Given the description of an element on the screen output the (x, y) to click on. 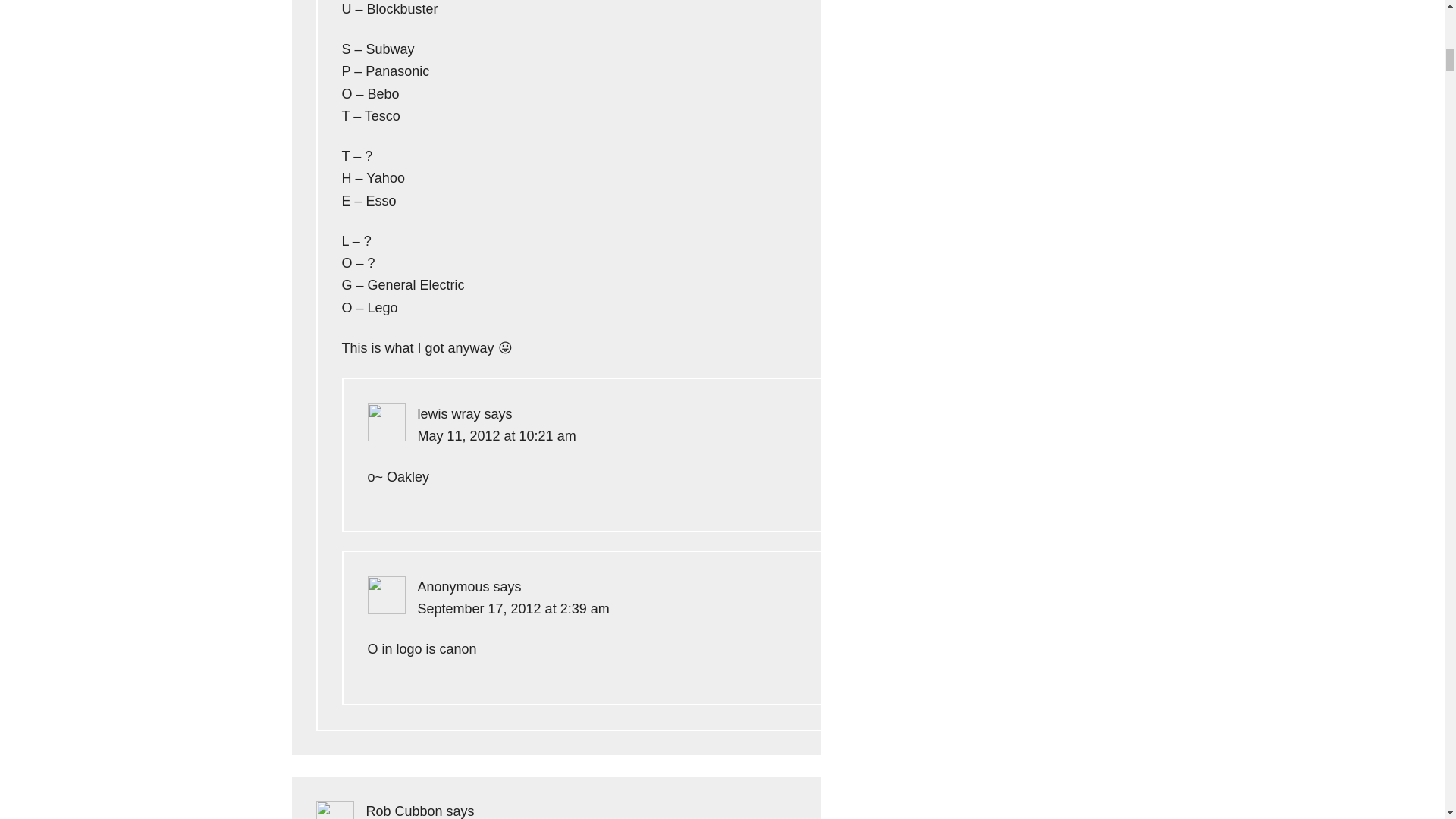
May 11, 2012 at 10:21 am (495, 435)
Rob Cubbon (403, 811)
September 17, 2012 at 2:39 am (512, 608)
